Given the description of an element on the screen output the (x, y) to click on. 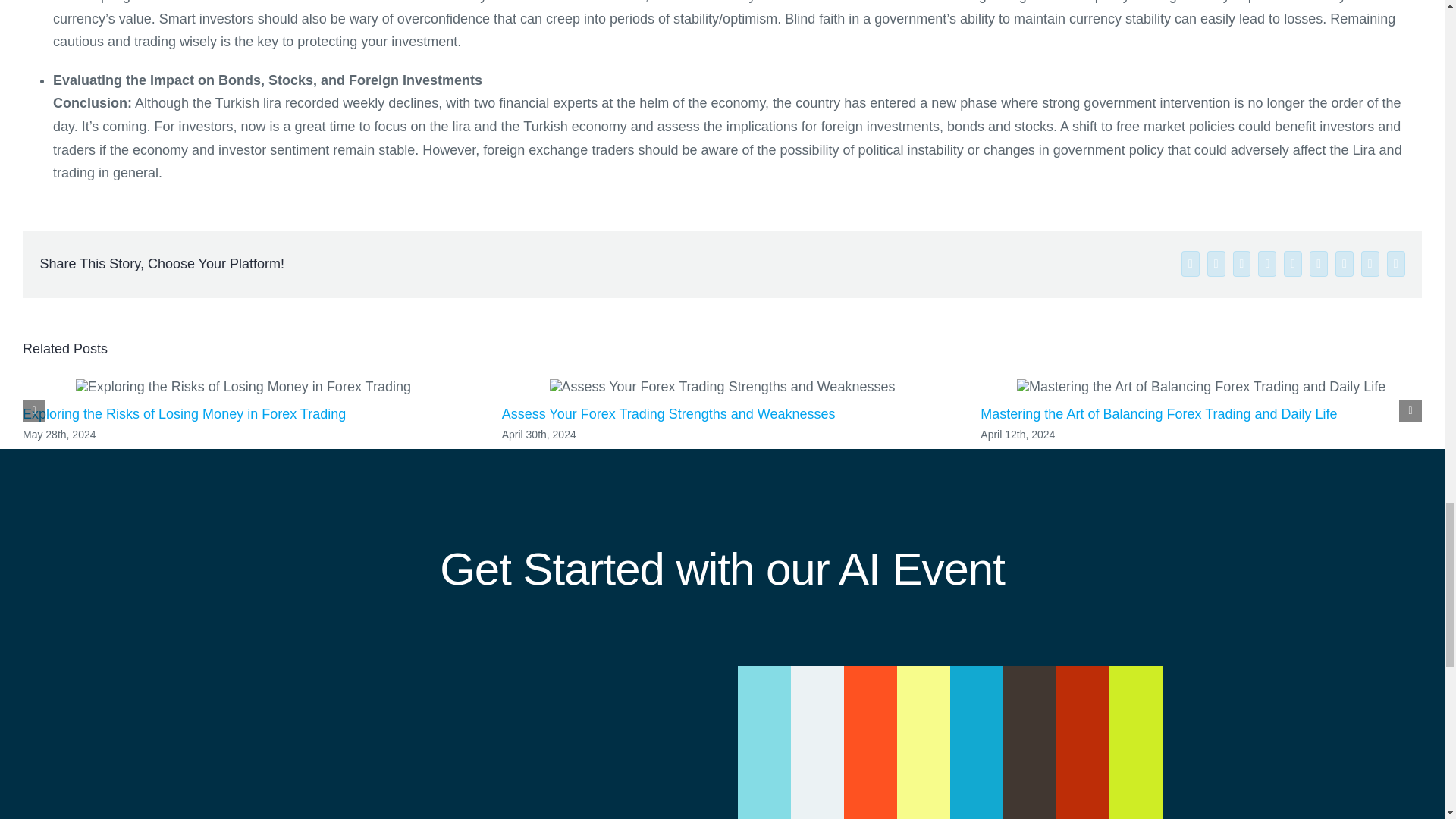
Exploring the Risks of Losing Money in Forex Trading (184, 413)
Mastering the Art of Balancing Forex Trading and Daily Life (1157, 413)
Vimeo video player 1 (948, 742)
Assess Your Forex Trading Strengths and Weaknesses (668, 413)
